Given the description of an element on the screen output the (x, y) to click on. 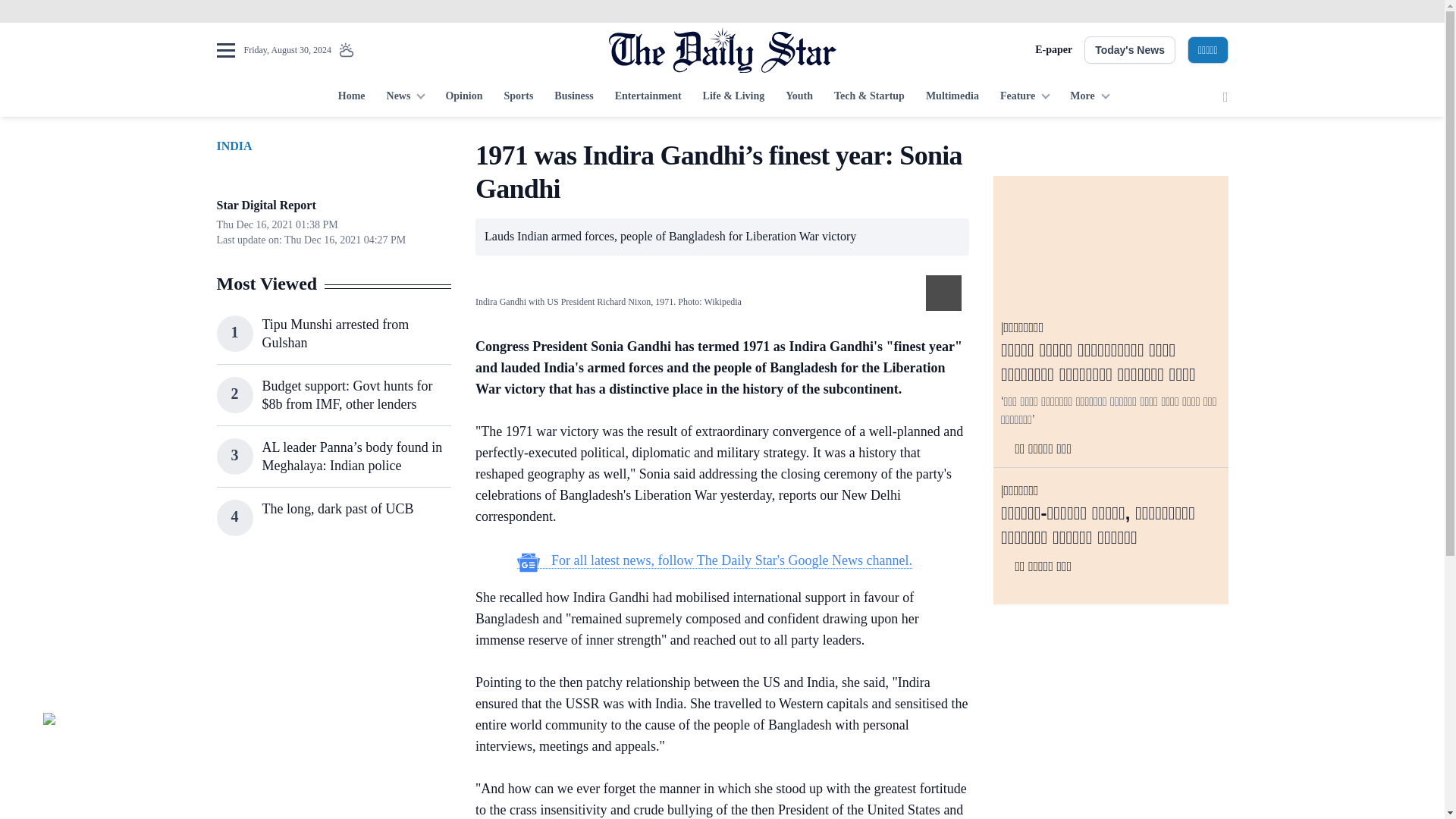
Sports (518, 96)
News (405, 96)
Today's News (1129, 49)
Multimedia (952, 96)
Business (573, 96)
Opinion (463, 96)
Youth (799, 96)
Feature (1024, 96)
E-paper (1053, 49)
